Given the description of an element on the screen output the (x, y) to click on. 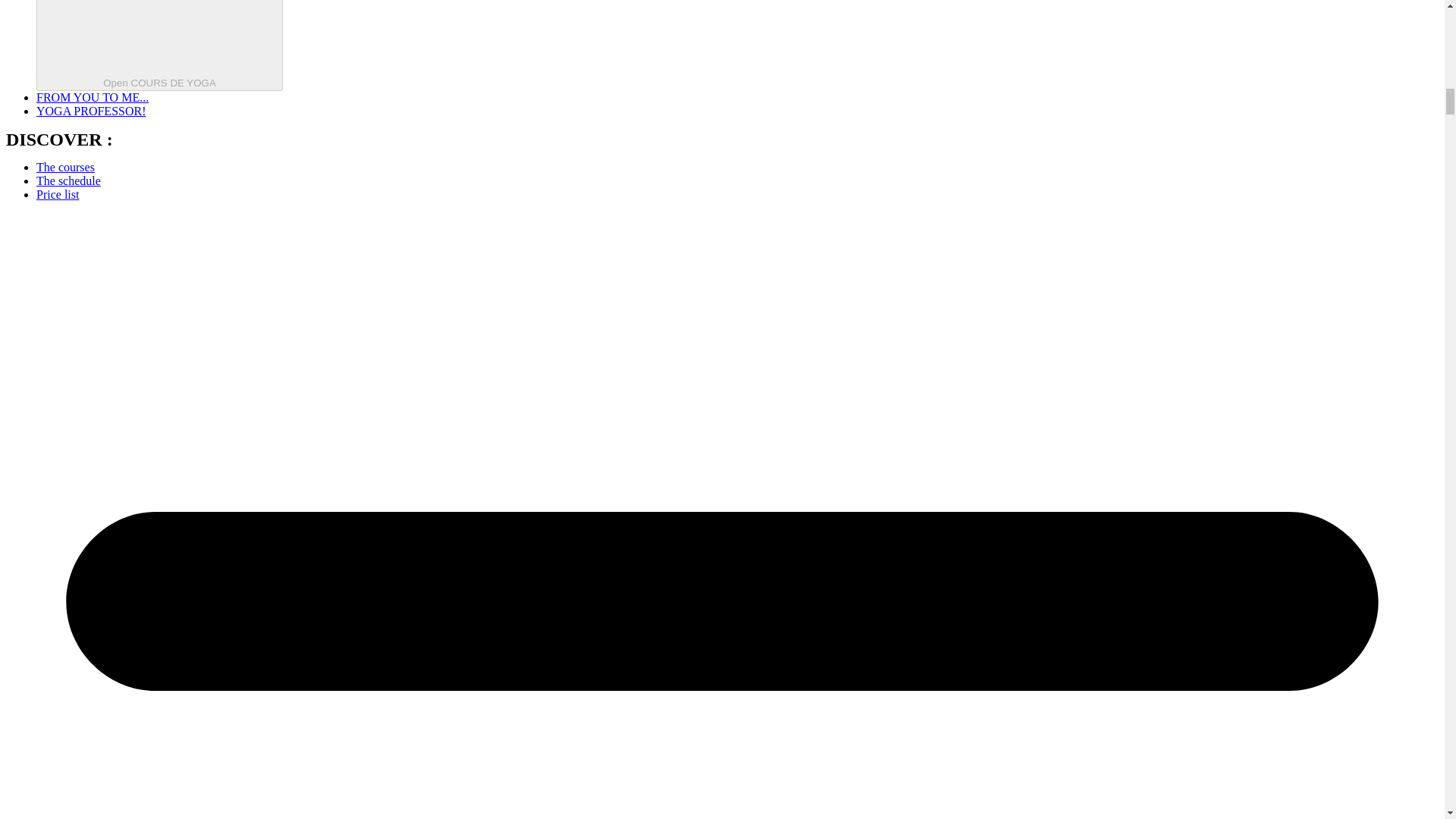
YOGA PROFESSOR! (90, 110)
Price list (57, 194)
The courses (65, 166)
FROM YOU TO ME... (92, 97)
Close COURS DE YOGA Open COURS DE YOGA (159, 45)
The schedule (68, 180)
